Given the description of an element on the screen output the (x, y) to click on. 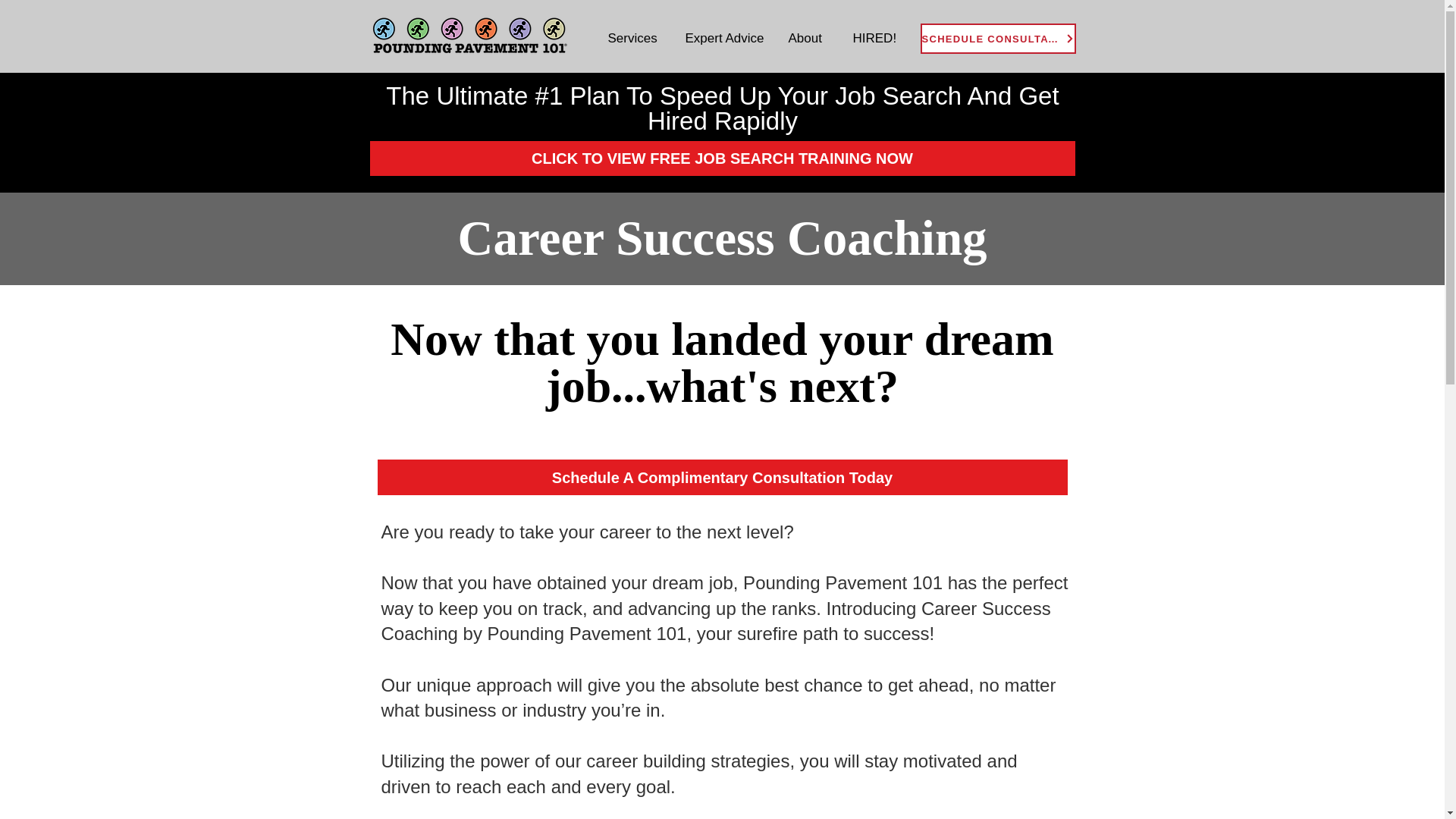
CLICK TO VIEW FREE JOB SEARCH TRAINING NOW (722, 158)
Schedule A Complimentary Consultation Today (722, 477)
HIRED! (876, 38)
SCHEDULE CONSULTATION (997, 38)
